Given the description of an element on the screen output the (x, y) to click on. 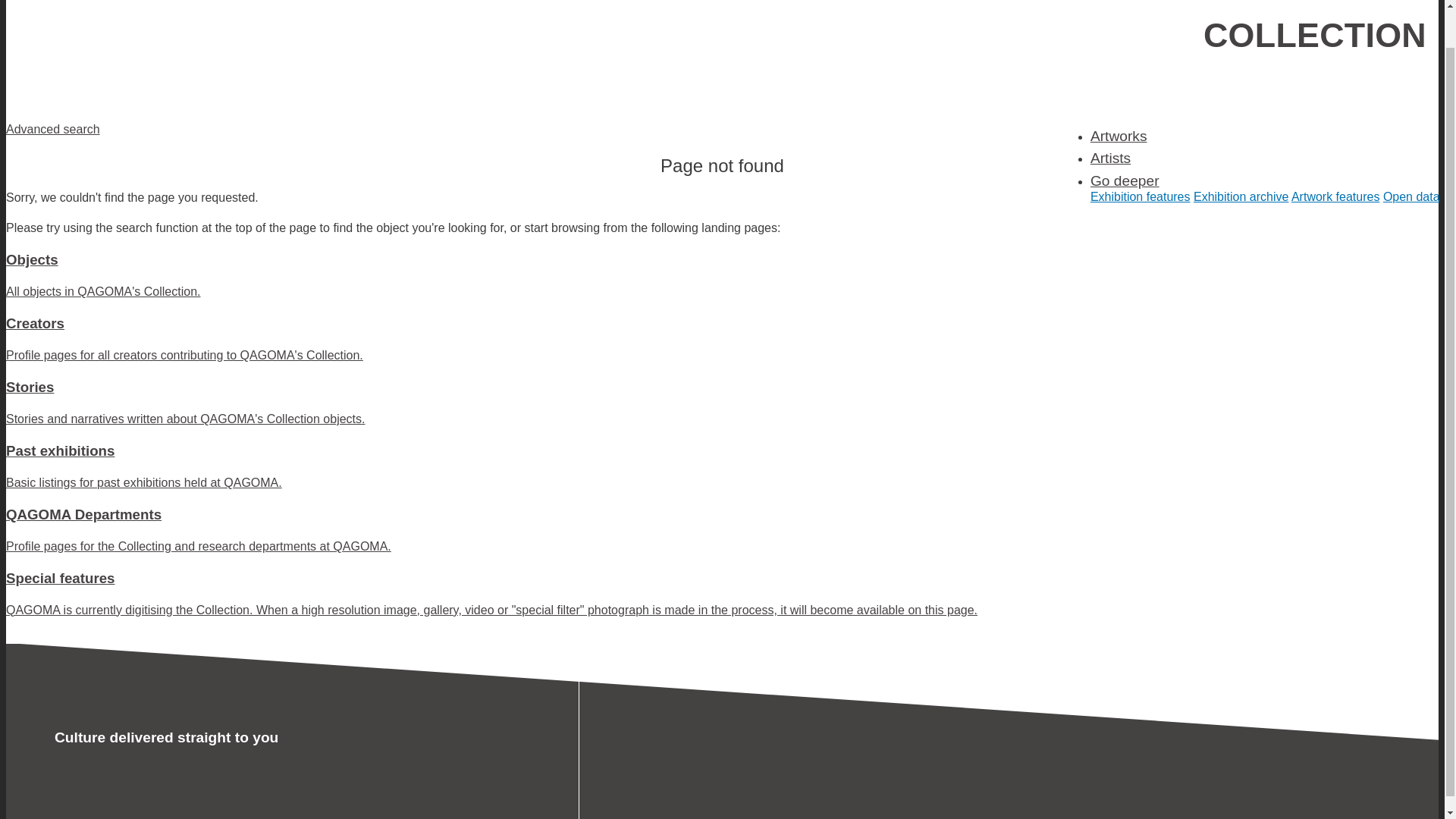
Exhibition features (1140, 196)
QAGOMA (137, 47)
Go deeper (1124, 180)
Exhibition archive (1240, 196)
COLLECTION (1315, 34)
Artists (1110, 157)
Artwork features (1334, 196)
Advanced search (52, 128)
Artworks (1118, 135)
